Given the description of an element on the screen output the (x, y) to click on. 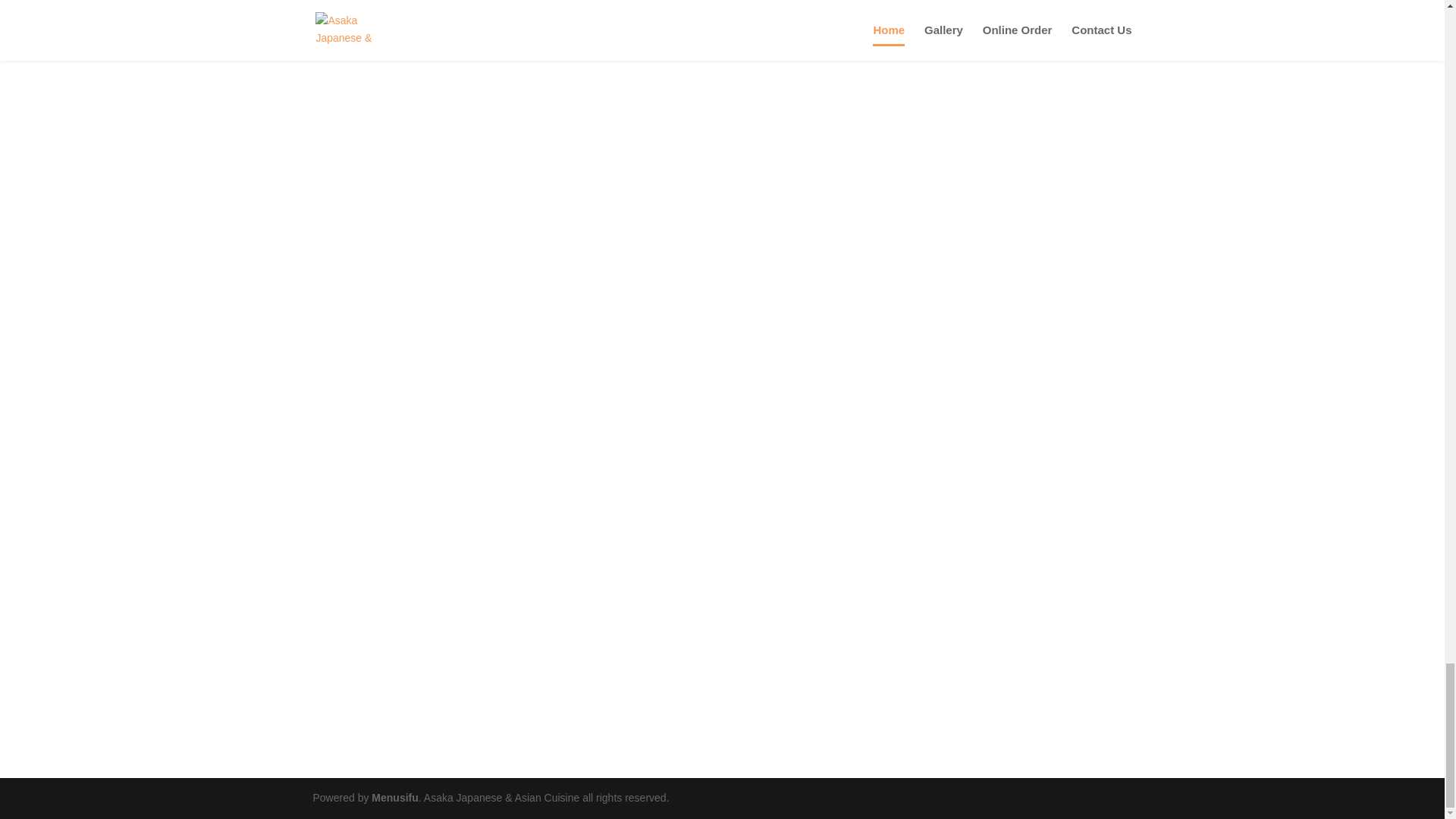
Menusifu (394, 797)
Follow on Yelp (354, 657)
Follow on Facebook (324, 657)
